Given the description of an element on the screen output the (x, y) to click on. 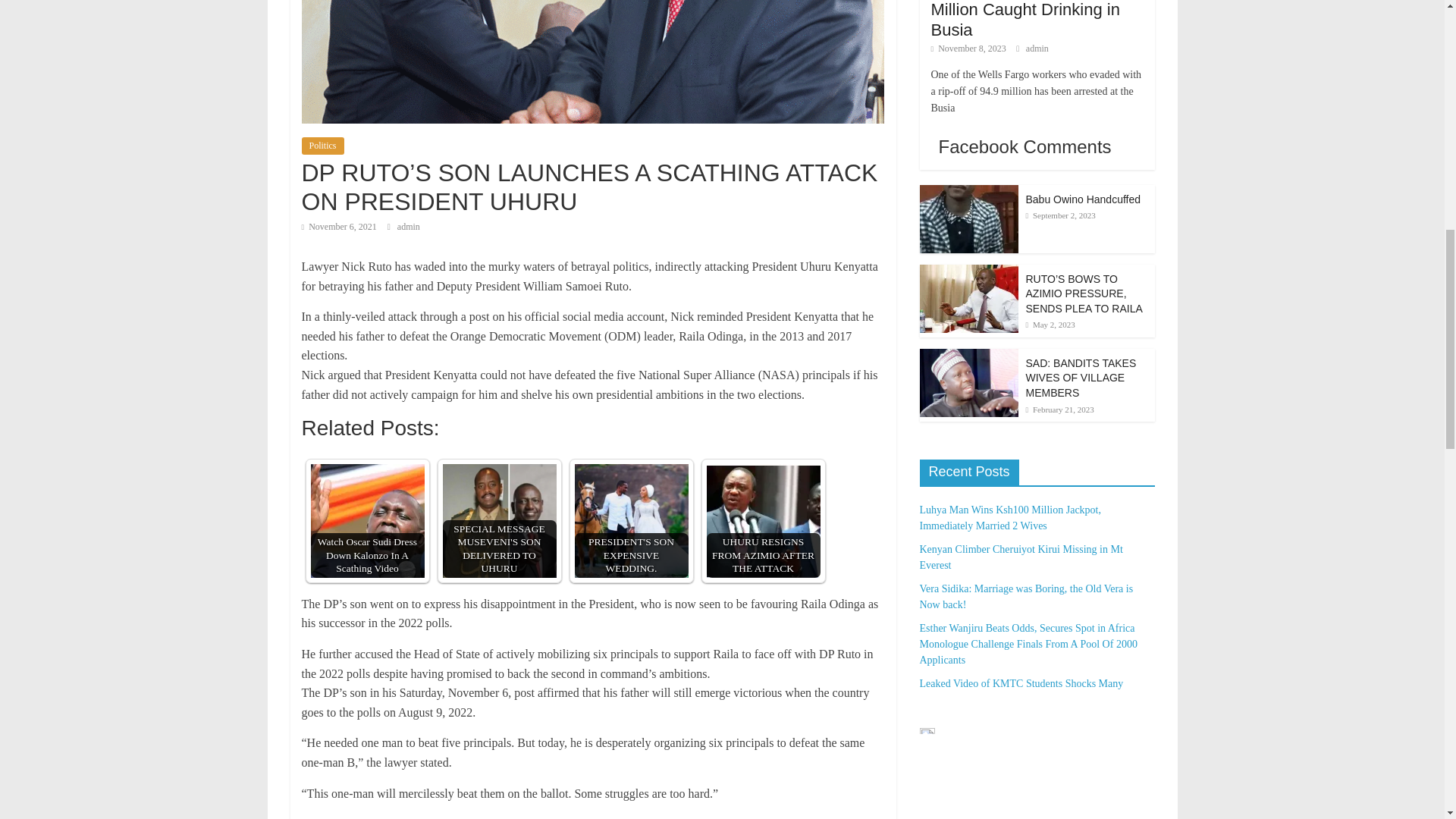
admin (408, 226)
Watch Oscar Sudi Dress Down Kalonzo In A Scathing Video (368, 521)
SPECIAL MESSAGE MUSEVENI'S SON DELIVERED TO UHURU (499, 521)
UHURU RESIGNS FROM AZIMIO AFTER THE ATTACK (763, 521)
SPECIAL MESSAGE MUSEVENI'S SON DELIVERED TO UHURU (499, 521)
November 6, 2021 (339, 226)
Politics (322, 145)
PRESIDENT'S SON EXPENSIVE WEDDING. (631, 521)
5:16 am (339, 226)
PRESIDENT'S SON EXPENSIVE WEDDING. (631, 521)
